Given the description of an element on the screen output the (x, y) to click on. 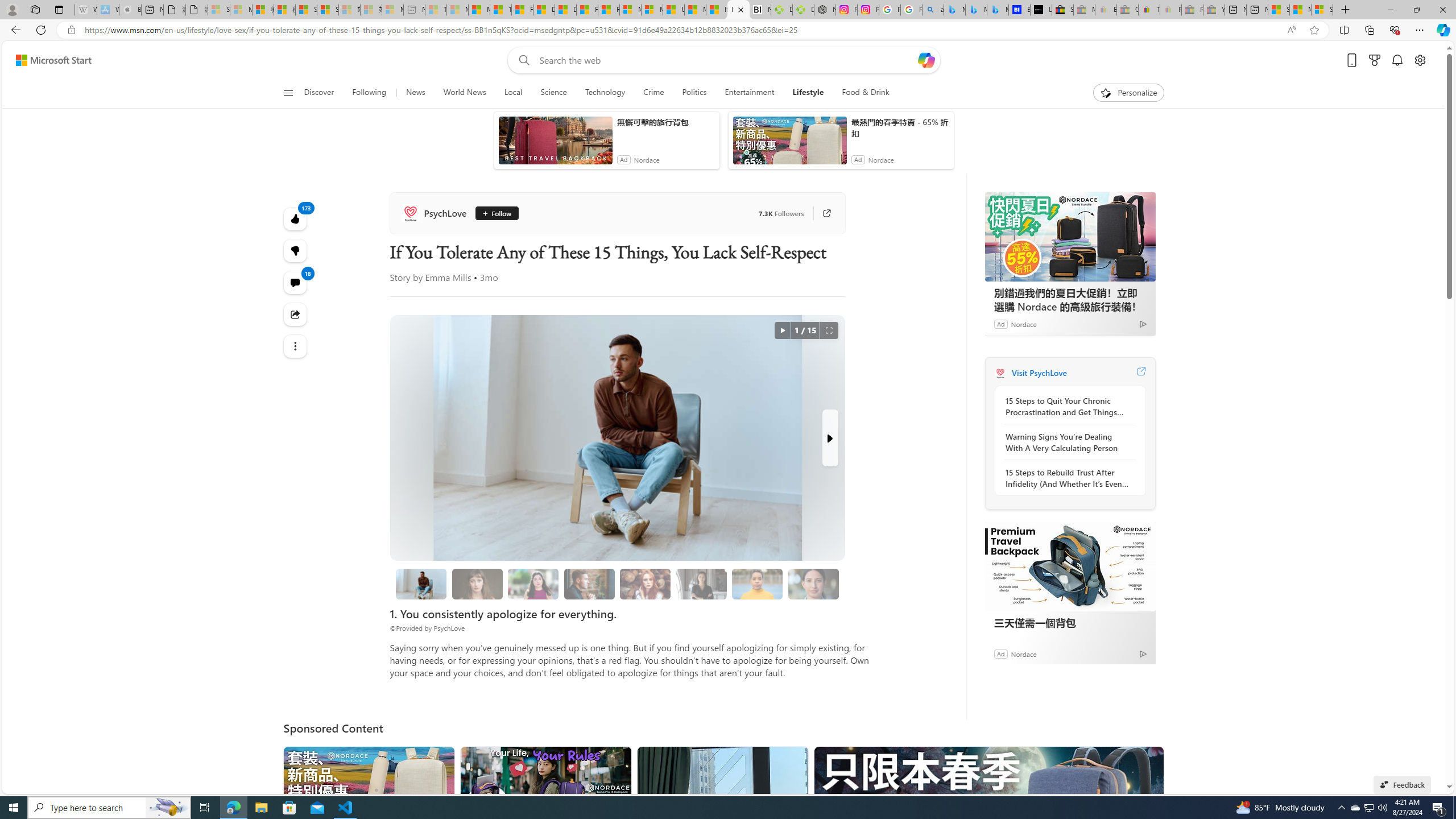
3. Put some thought into it. (421, 583)
anim-content (789, 144)
Selling on eBay | Electronics, Fashion, Home & Garden | eBay (1062, 9)
Buy iPad - Apple - Sleeping (130, 9)
Crime (653, 92)
Web search (520, 60)
